Given the description of an element on the screen output the (x, y) to click on. 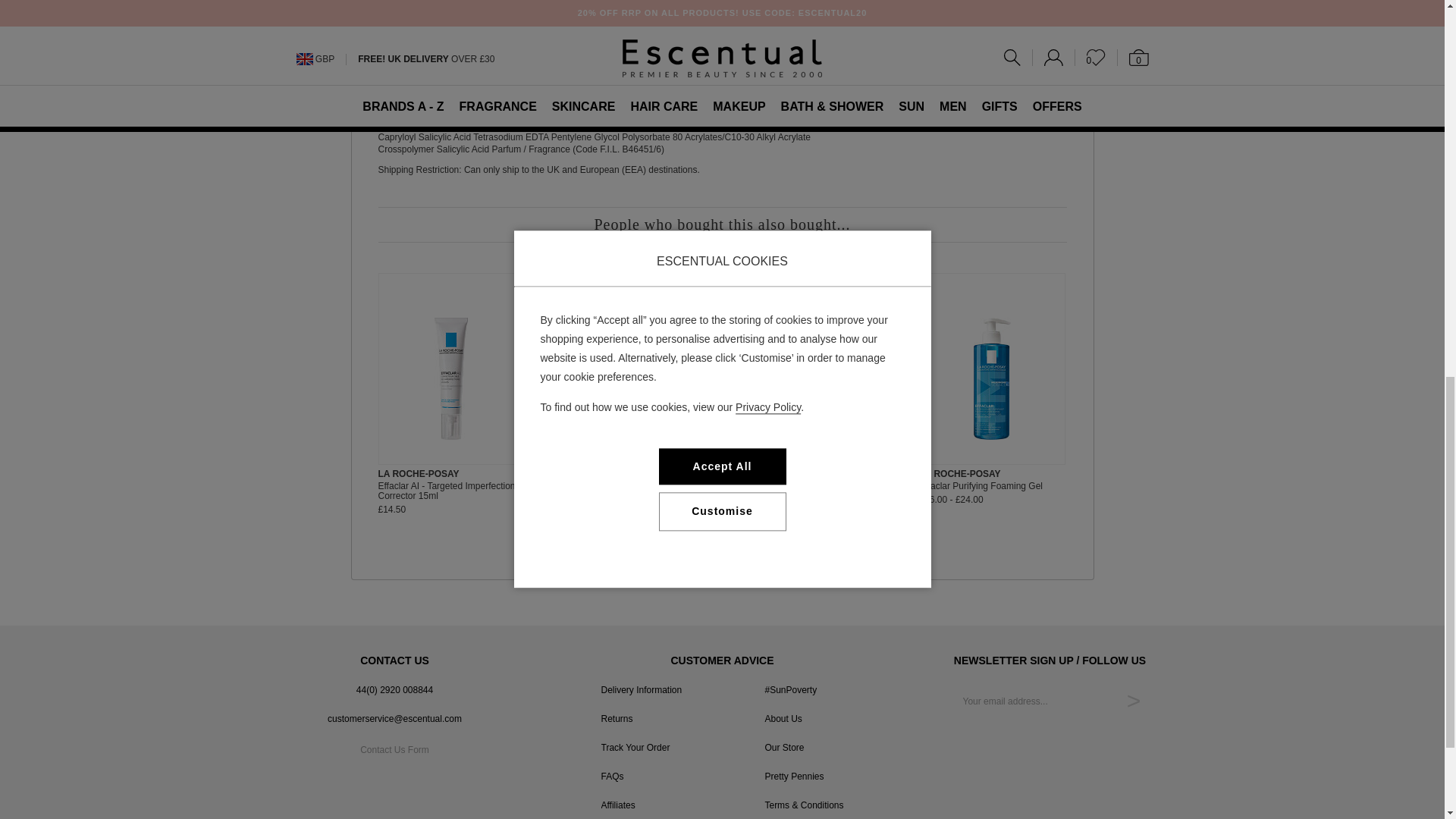
La Roche-Posay Effaclar Purifying Foaming Gel 400ml (992, 378)
